Given the description of an element on the screen output the (x, y) to click on. 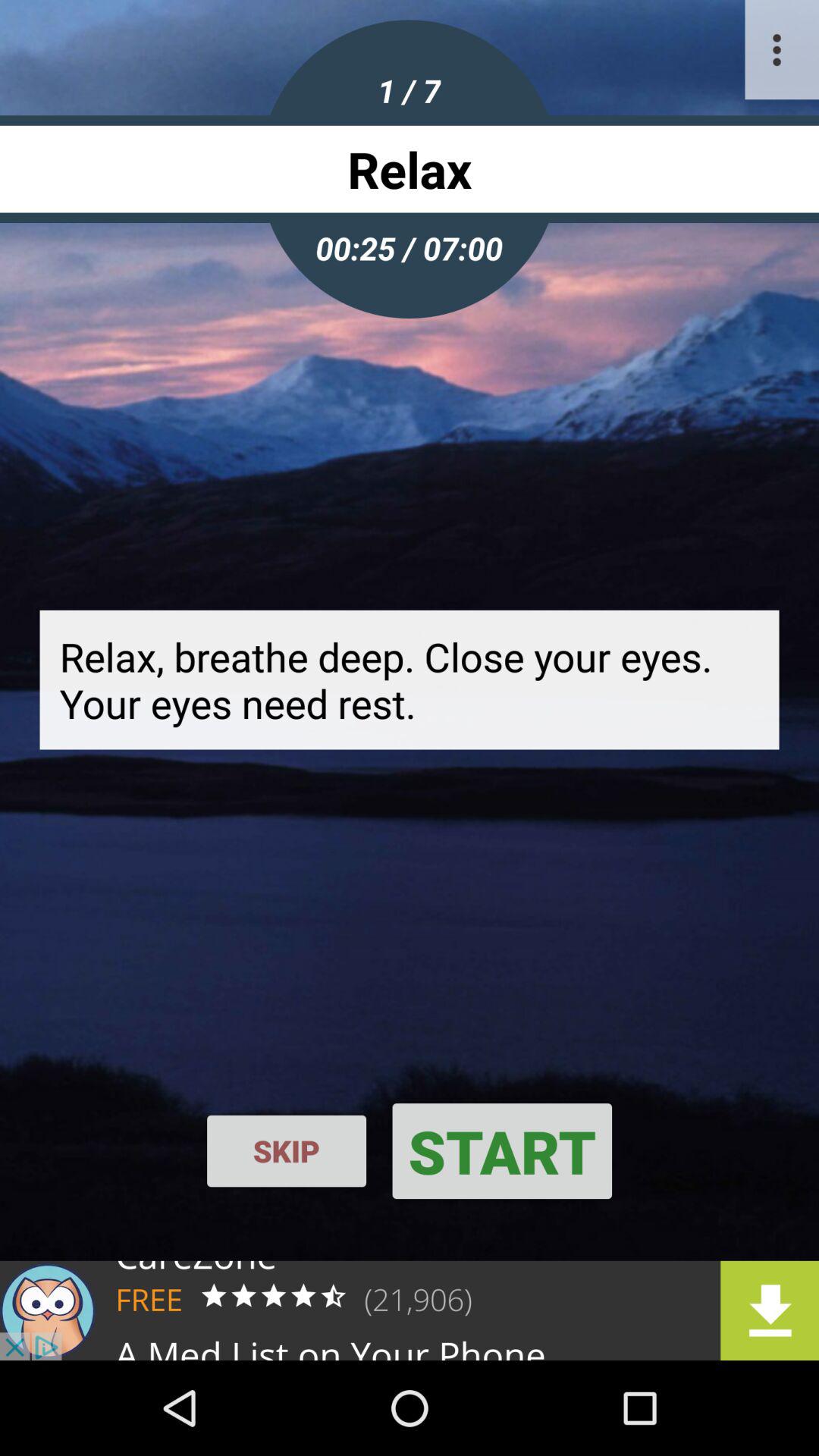
advertisement (409, 1310)
